Given the description of an element on the screen output the (x, y) to click on. 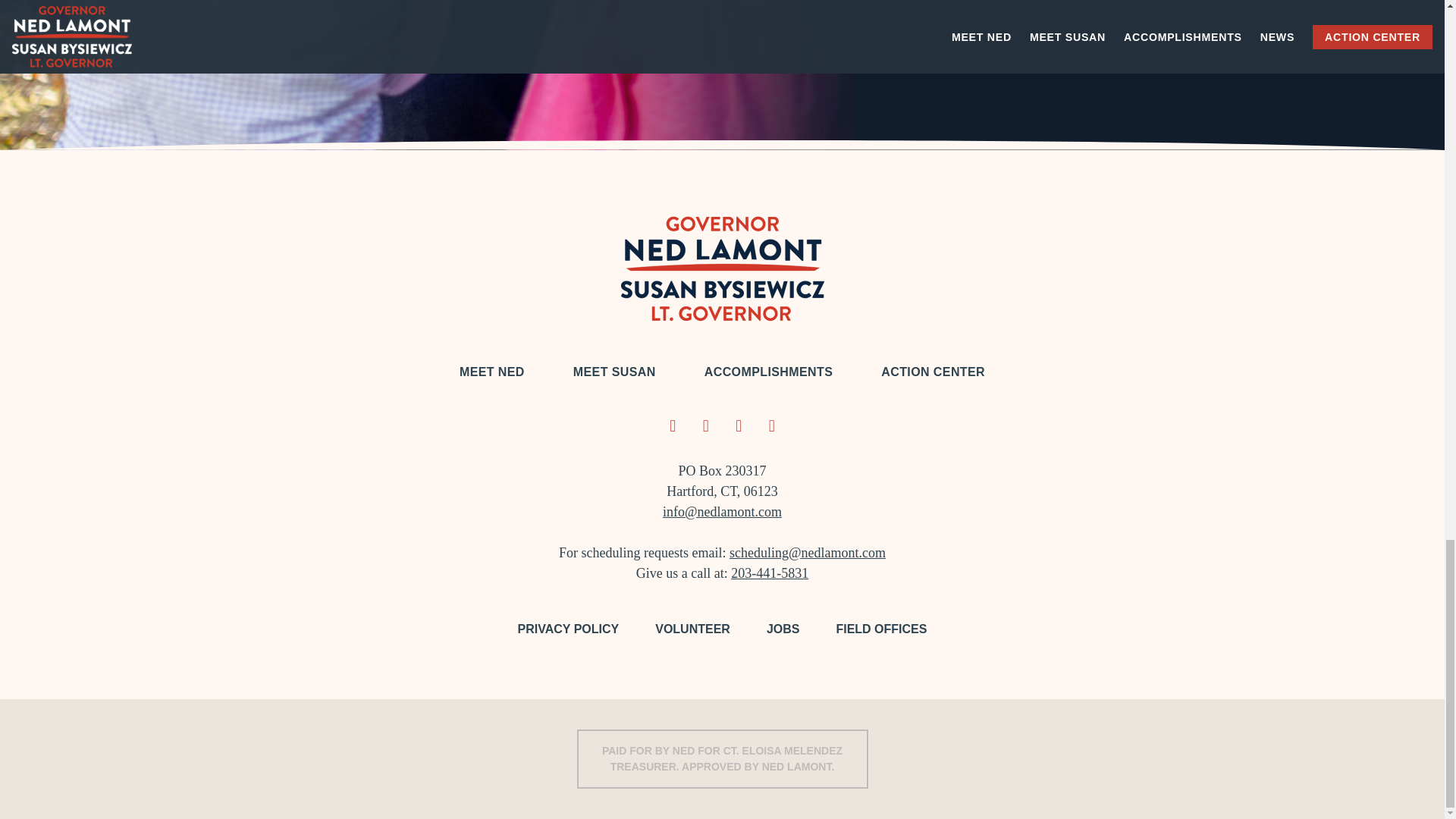
JOBS (783, 628)
203-441-5831 (769, 572)
FIELD OFFICES (880, 628)
VOLUNTEER (692, 628)
ACCOMPLISHMENTS (768, 371)
MEET NED (492, 371)
PRIVACY POLICY (569, 628)
ACTION CENTER (932, 371)
MEET SUSAN (614, 371)
